Given the description of an element on the screen output the (x, y) to click on. 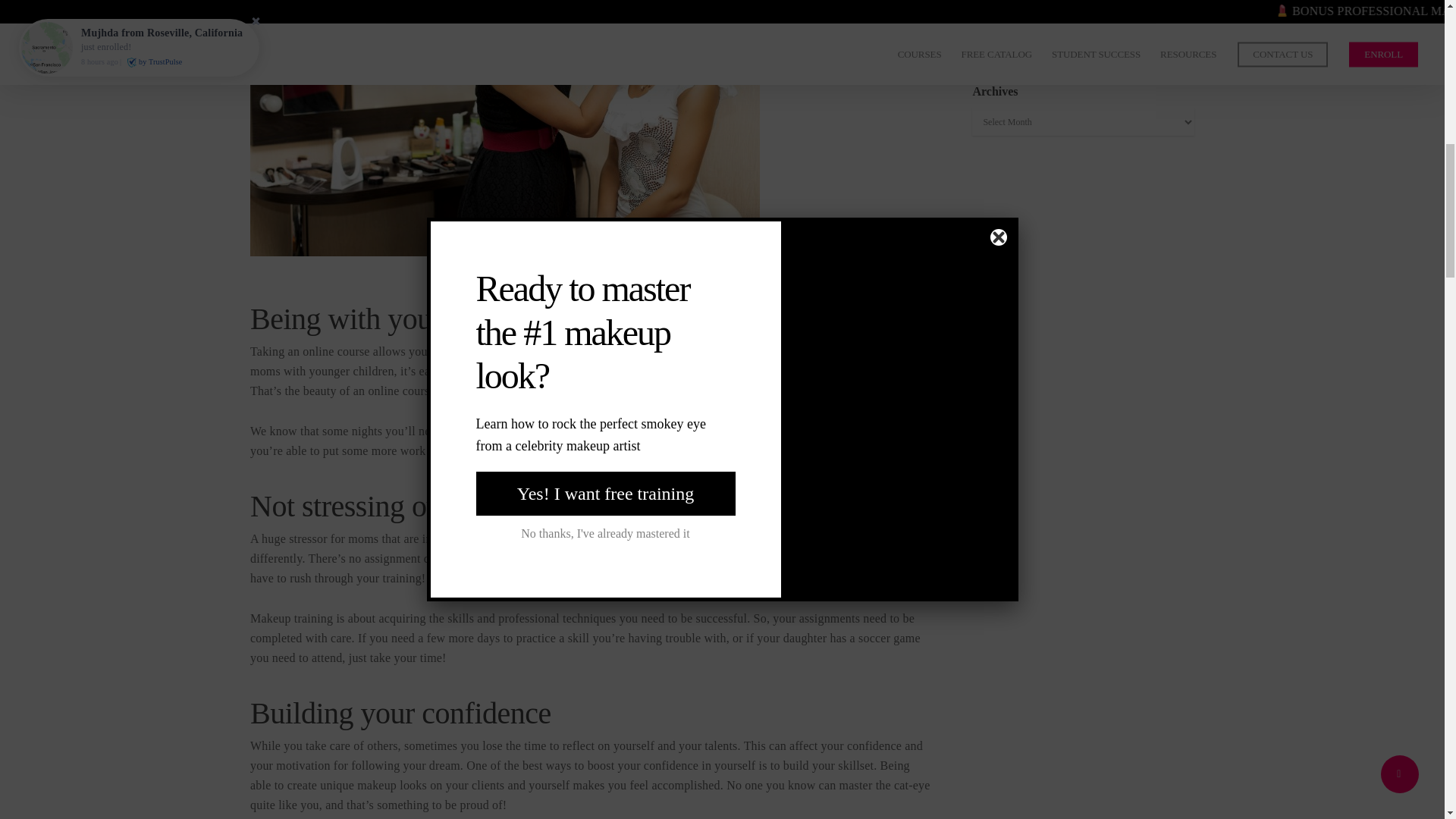
we encourage it (713, 431)
